Given the description of an element on the screen output the (x, y) to click on. 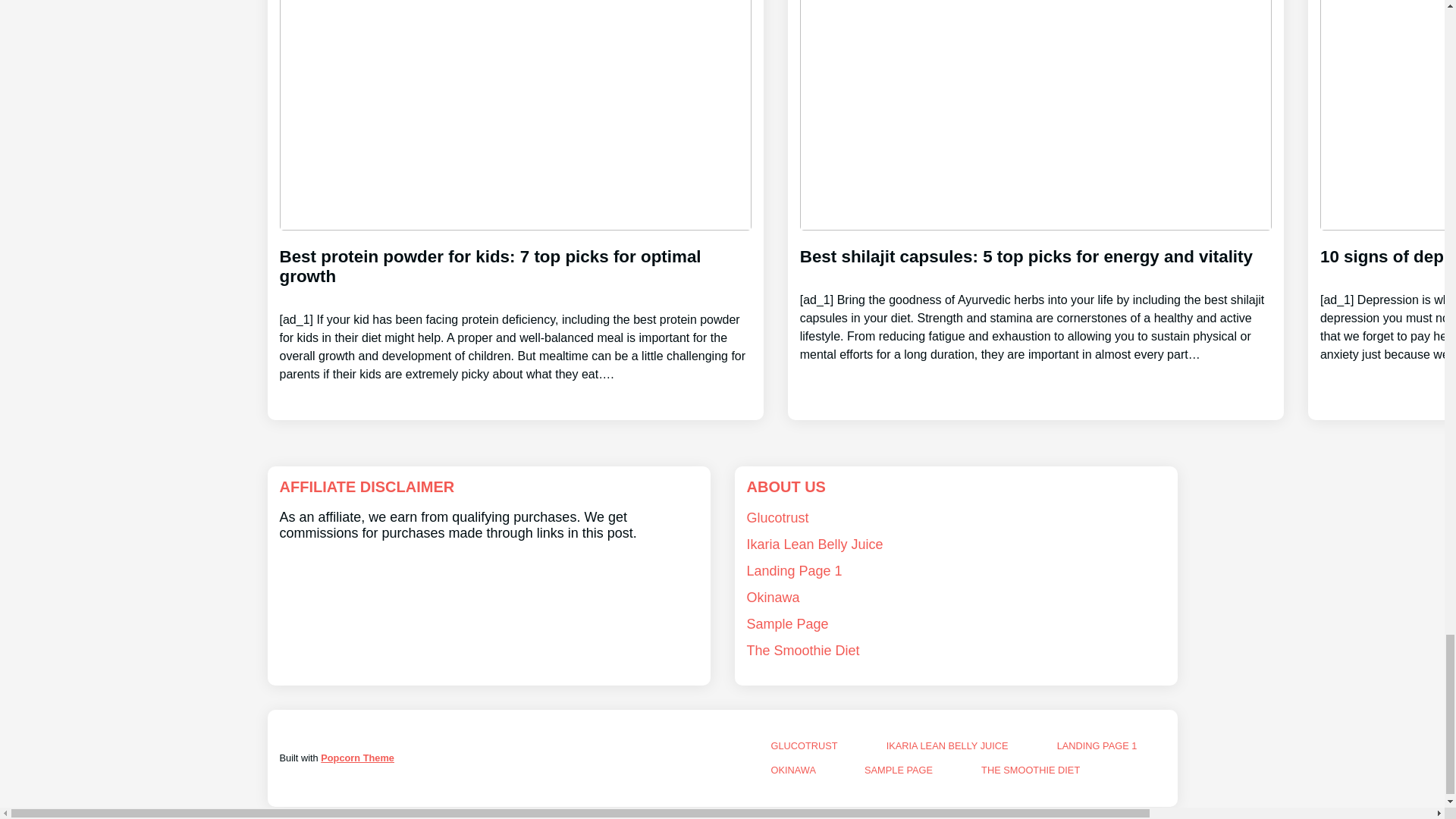
The Smoothie Diet (802, 650)
Ikaria Lean Belly Juice (813, 544)
Glucotrust (776, 517)
GLUCOTRUST (803, 745)
Okinawa (772, 597)
Best shilajit capsules: 5 top picks for energy and vitality (1035, 292)
LANDING PAGE 1 (1097, 745)
OKINAWA (792, 769)
IKARIA LEAN BELLY JUICE (947, 745)
Sample Page (786, 623)
Landing Page 1 (793, 570)
Best protein powder for kids: 7 top picks for optimal growth (515, 302)
Popcorn Theme (357, 757)
10 signs of depression to look out for (1388, 292)
